Given the description of an element on the screen output the (x, y) to click on. 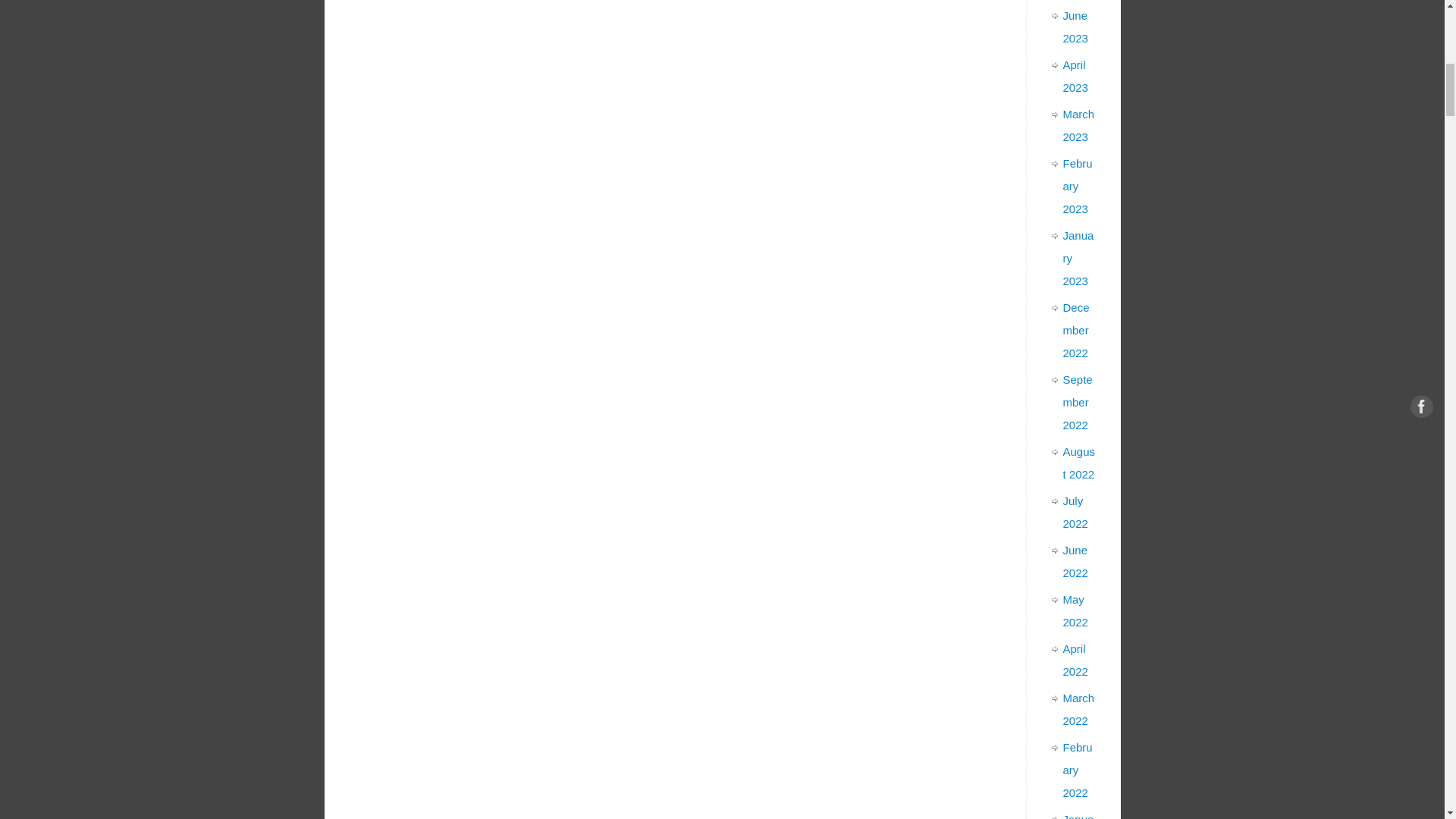
August 2022 (1079, 462)
March 2023 (1078, 125)
